Given the description of an element on the screen output the (x, y) to click on. 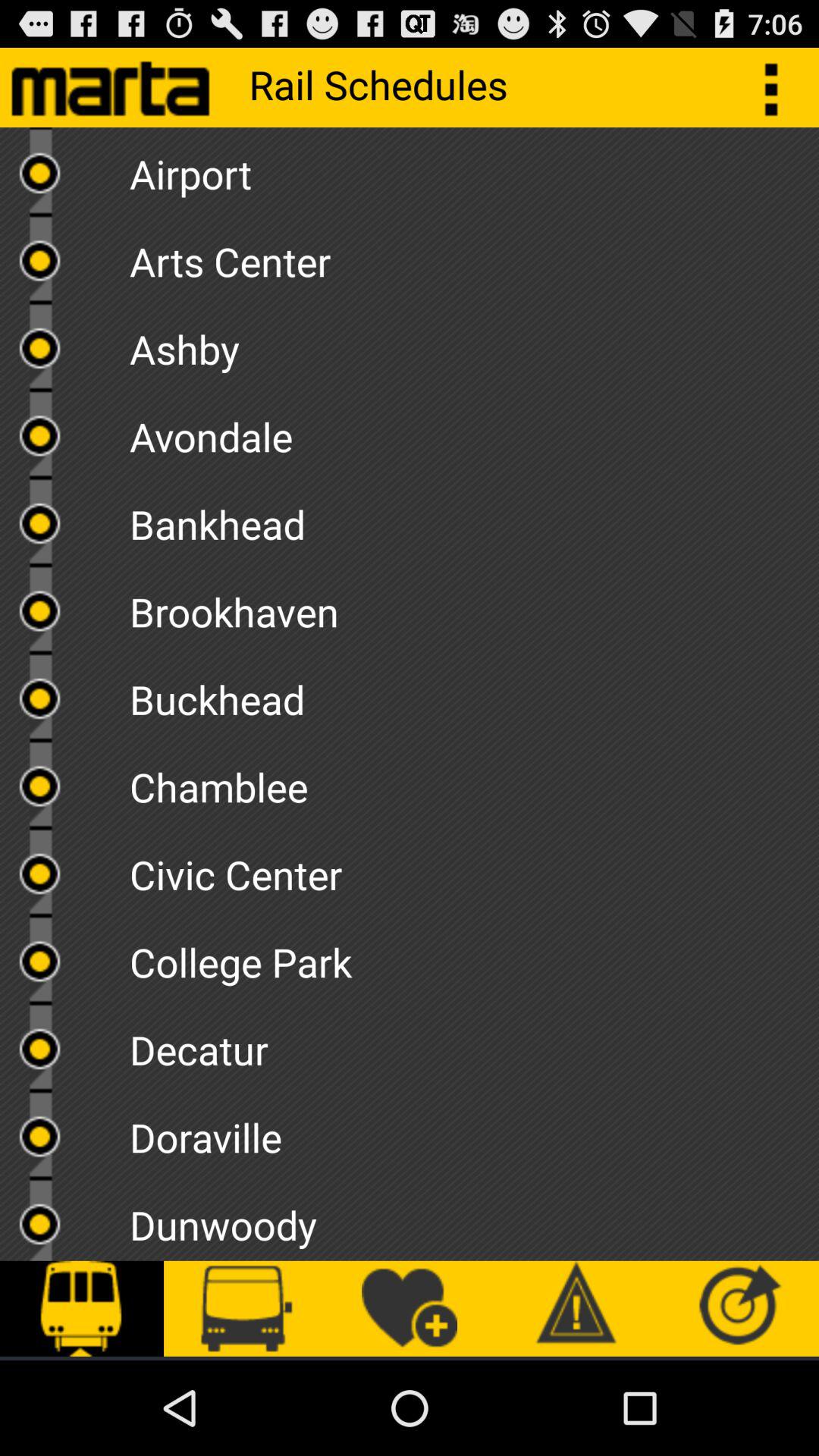
launch avondale (474, 431)
